Given the description of an element on the screen output the (x, y) to click on. 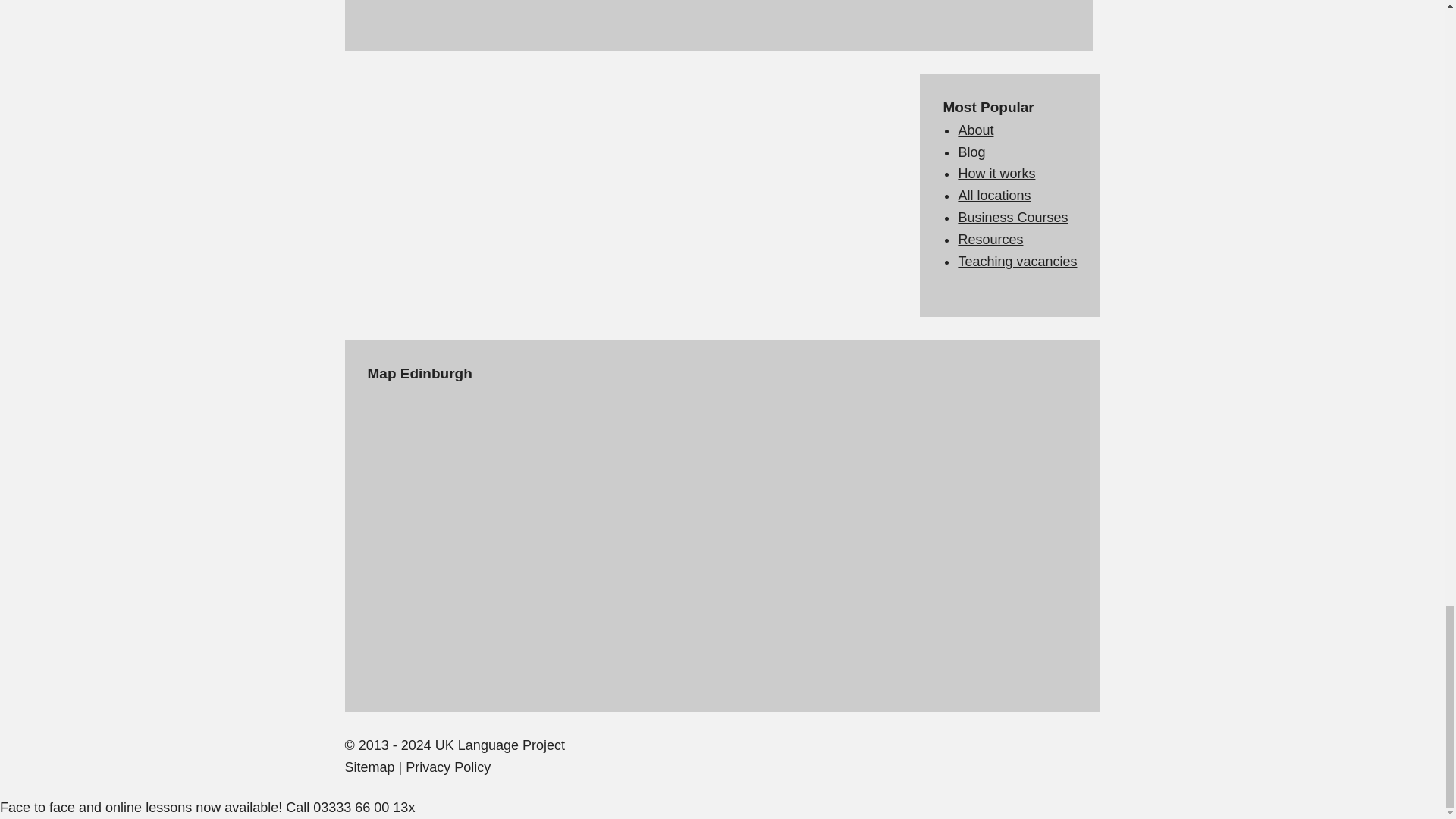
Resources (990, 239)
Sitemap (368, 767)
How it works (996, 173)
Business Courses (1012, 217)
Blog (971, 151)
All locations (994, 195)
Privacy Policy (448, 767)
Teaching vacancies (1017, 261)
About (975, 130)
